Given the description of an element on the screen output the (x, y) to click on. 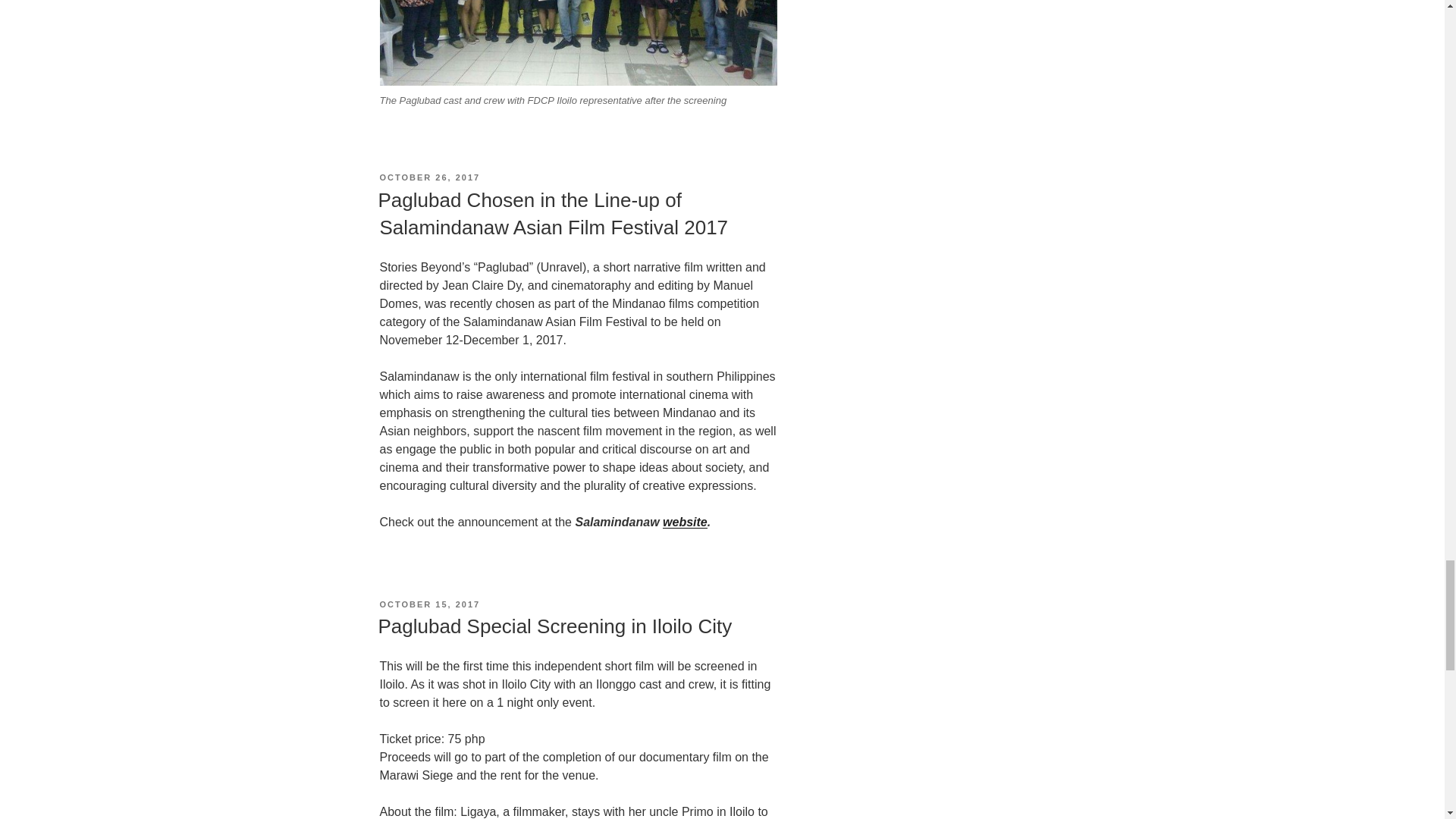
Paglubad Special Screening in Iloilo City (554, 626)
OCTOBER 15, 2017 (429, 604)
OCTOBER 26, 2017 (429, 176)
website (684, 521)
